Given the description of an element on the screen output the (x, y) to click on. 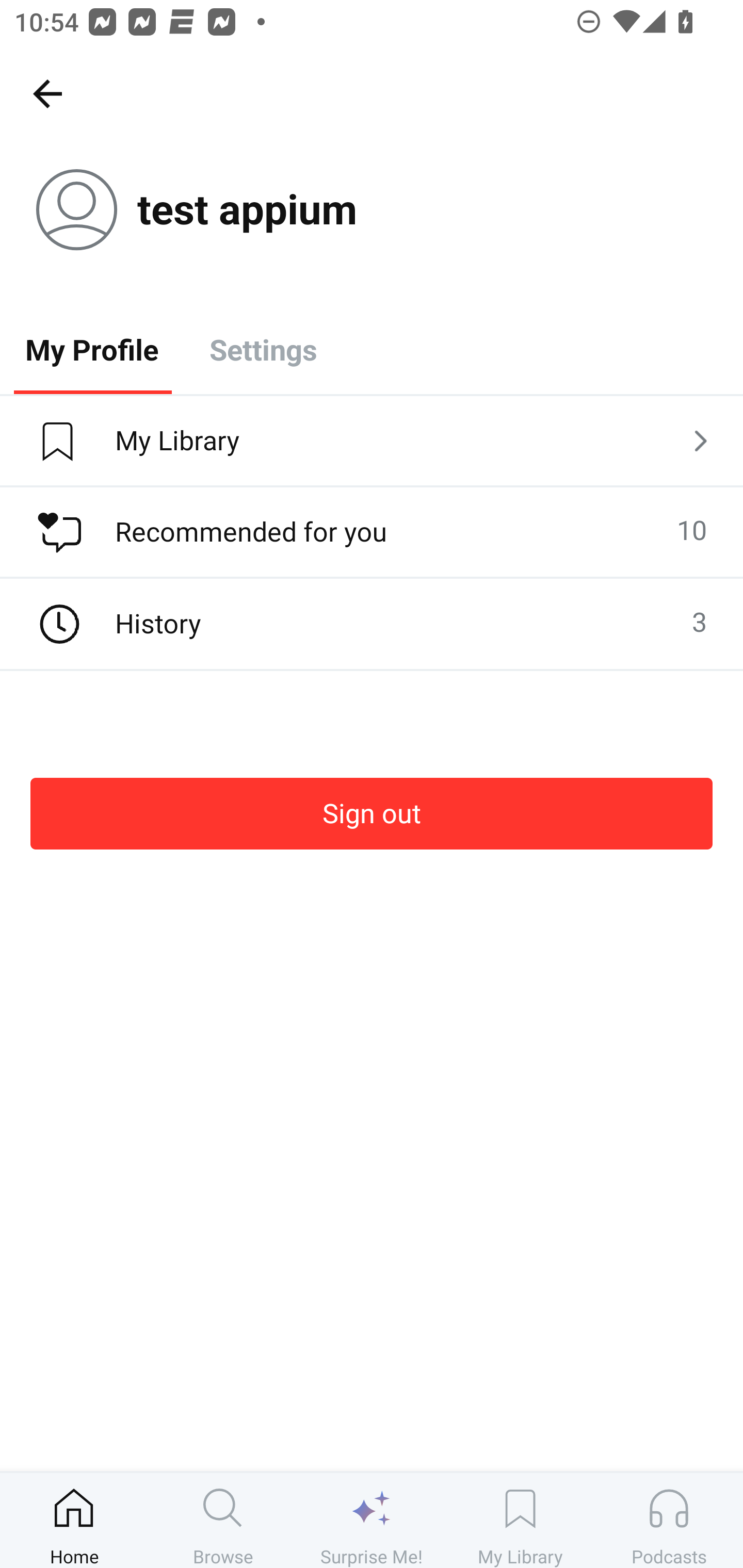
Home, back (47, 92)
My Profile (92, 348)
Settings (263, 348)
My Library (371, 441)
Recommended for you 10 (371, 532)
History 3 (371, 623)
Sign out (371, 813)
Home (74, 1520)
Browse (222, 1520)
Surprise Me! (371, 1520)
My Library (519, 1520)
Podcasts (668, 1520)
